Given the description of an element on the screen output the (x, y) to click on. 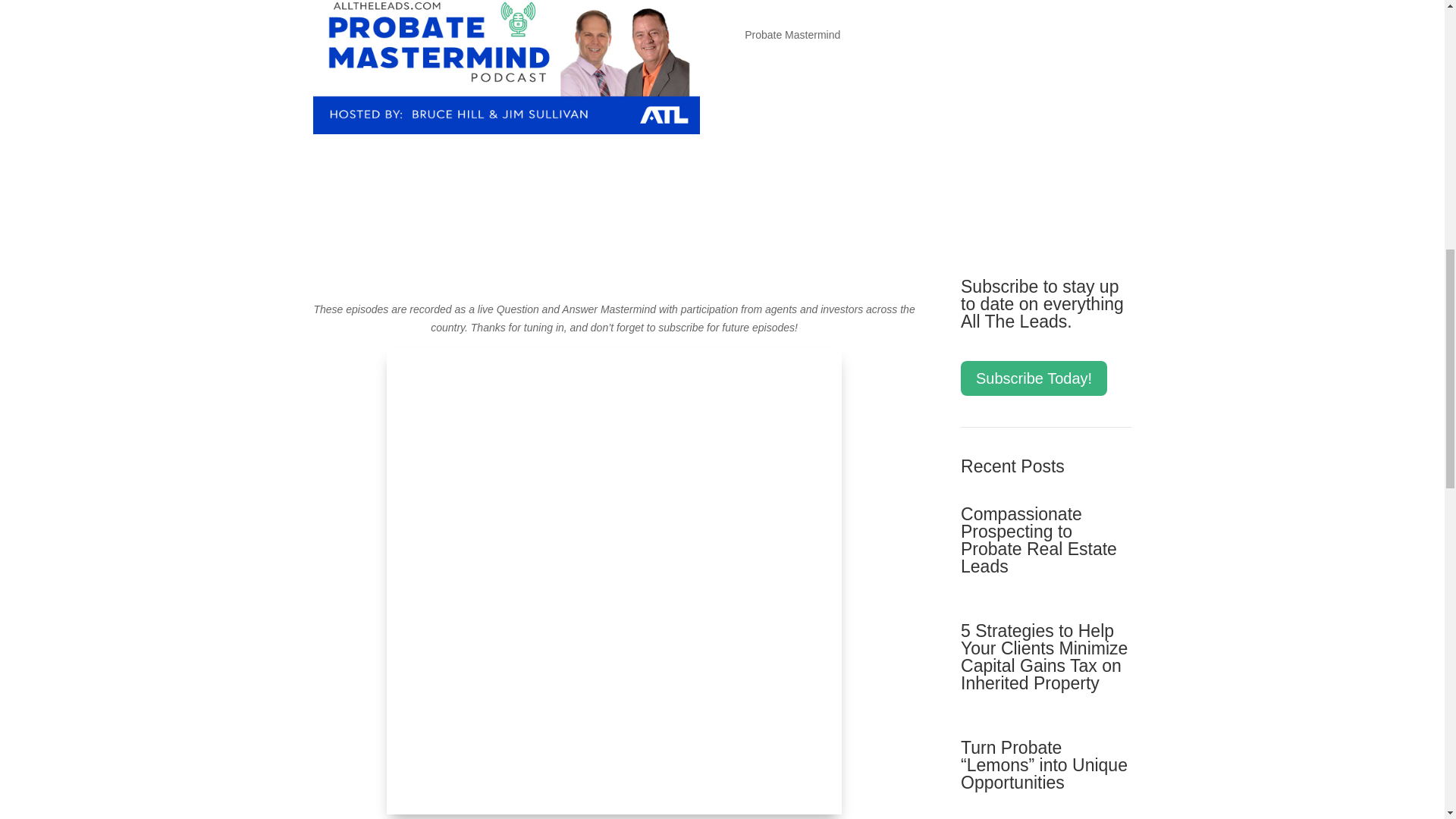
Probate-Mastermind-424-Thumbnail (505, 67)
